Given the description of an element on the screen output the (x, y) to click on. 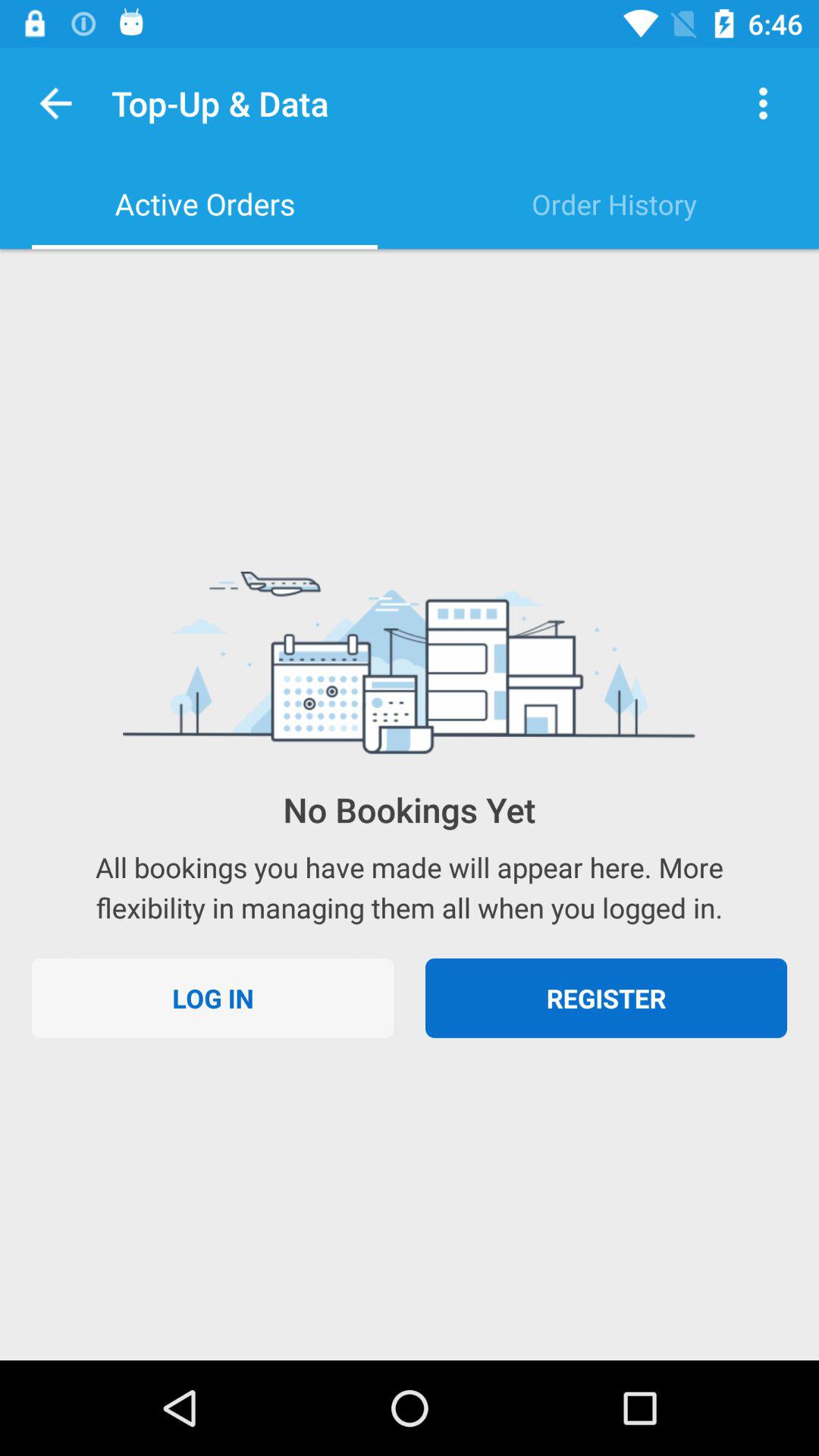
more options (763, 103)
